Given the description of an element on the screen output the (x, y) to click on. 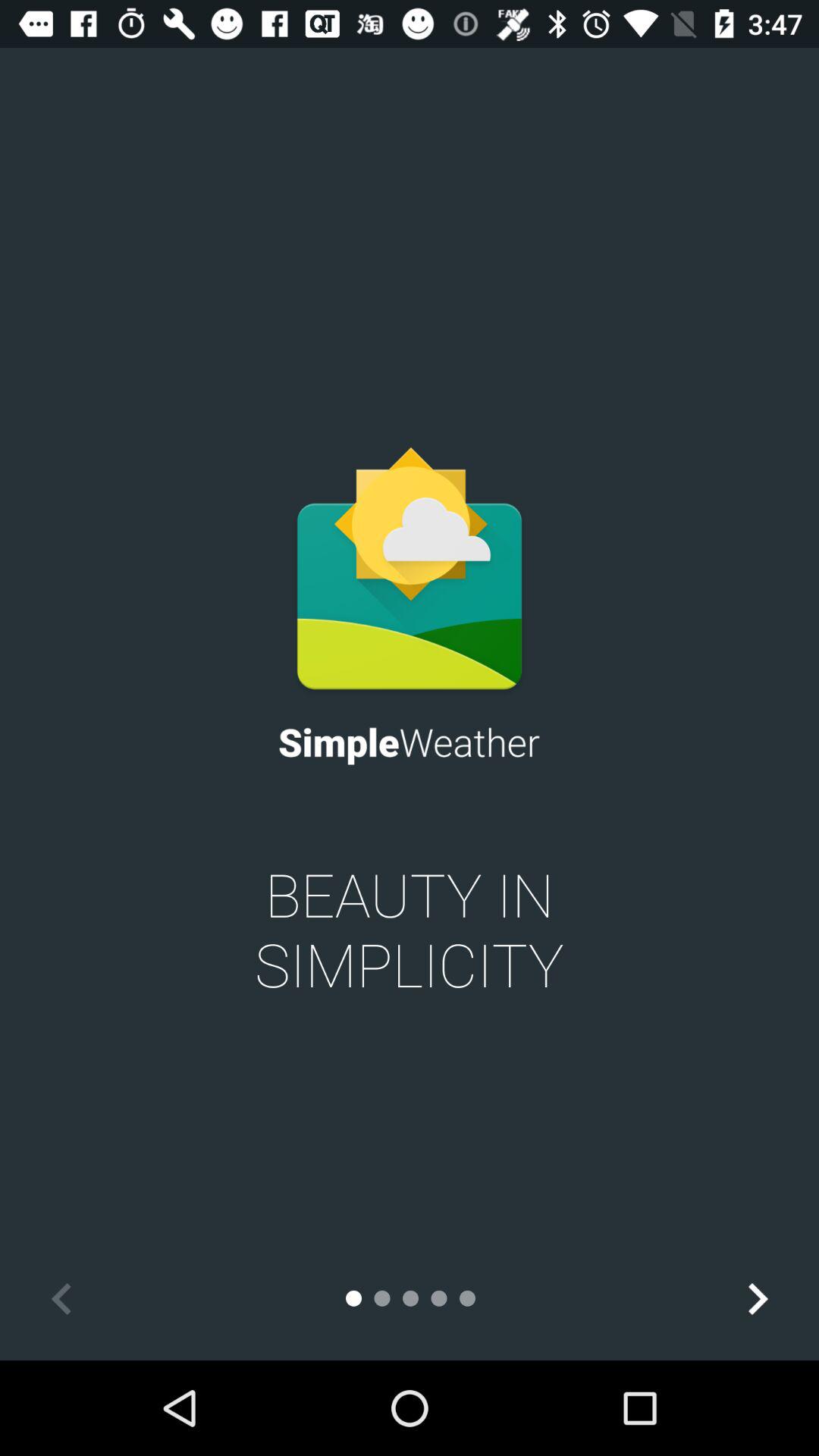
select item at the bottom left corner (61, 1298)
